Given the description of an element on the screen output the (x, y) to click on. 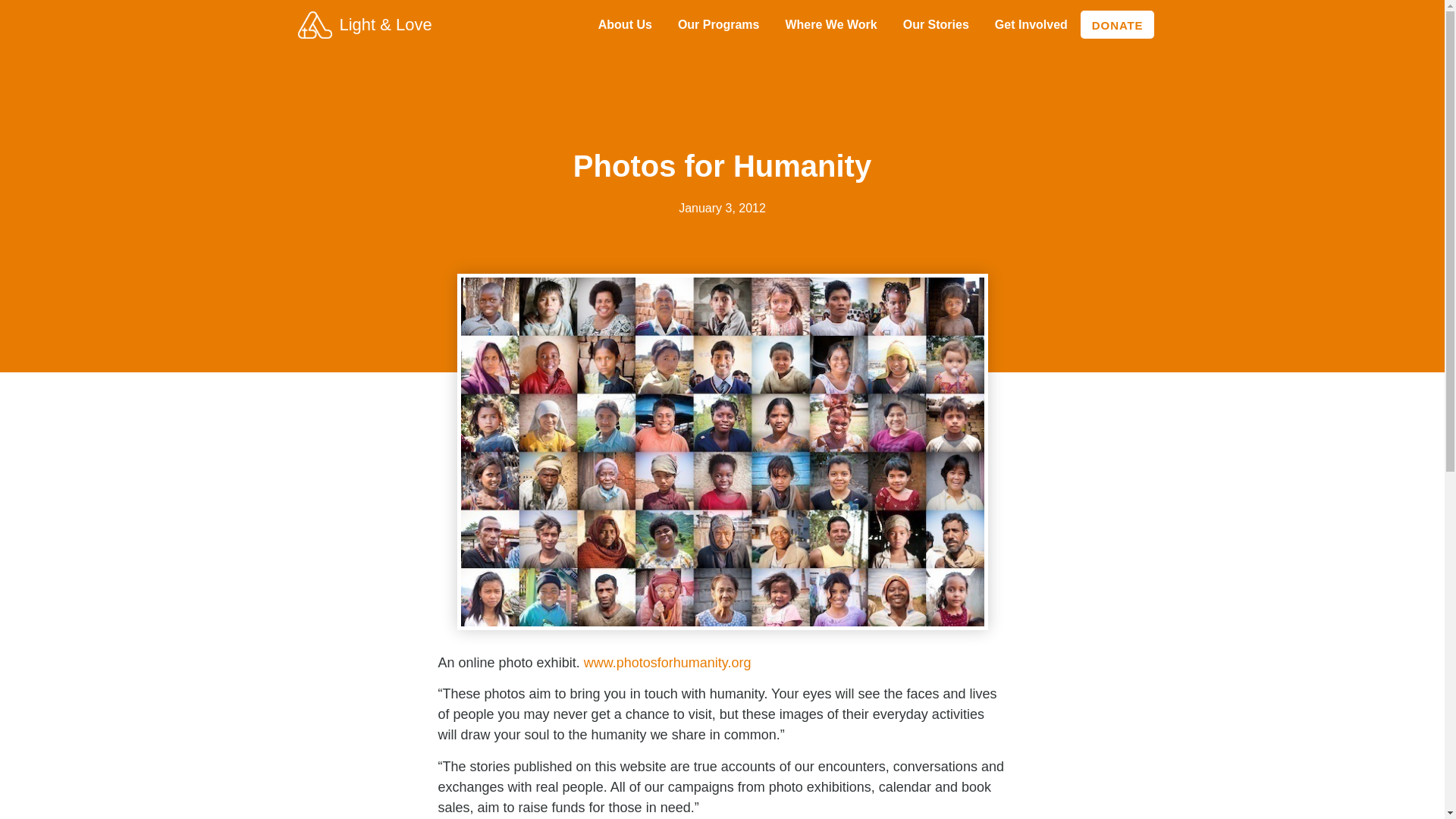
Where We Work (830, 24)
Our Stories (935, 24)
About Us (625, 24)
Our Programs (719, 24)
